Given the description of an element on the screen output the (x, y) to click on. 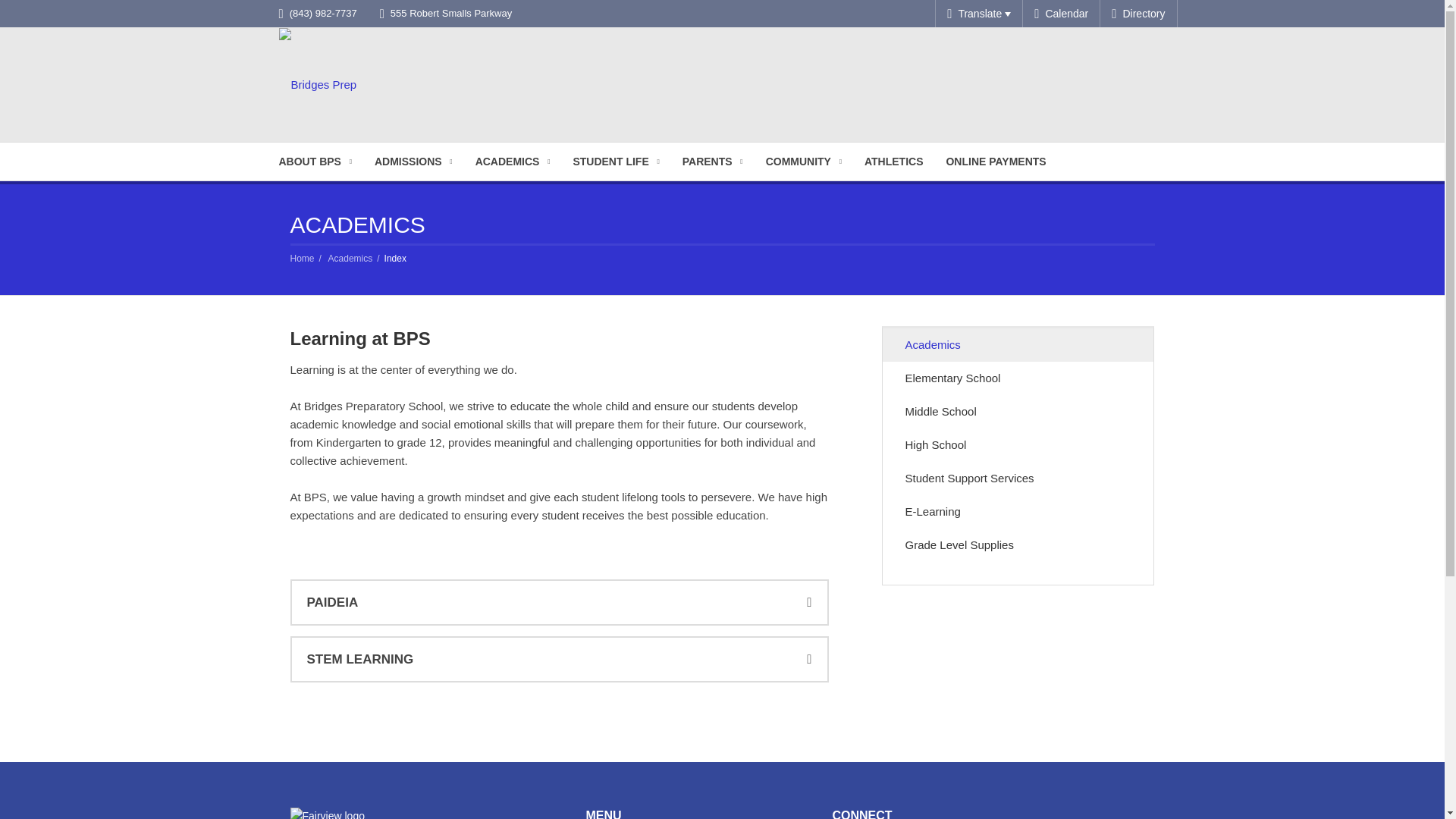
Calendar (1061, 13)
STUDENT LIFE (614, 161)
ABOUT BPS (314, 161)
Directory (1138, 13)
ADMISSIONS (413, 161)
ACADEMICS (513, 161)
